Given the description of an element on the screen output the (x, y) to click on. 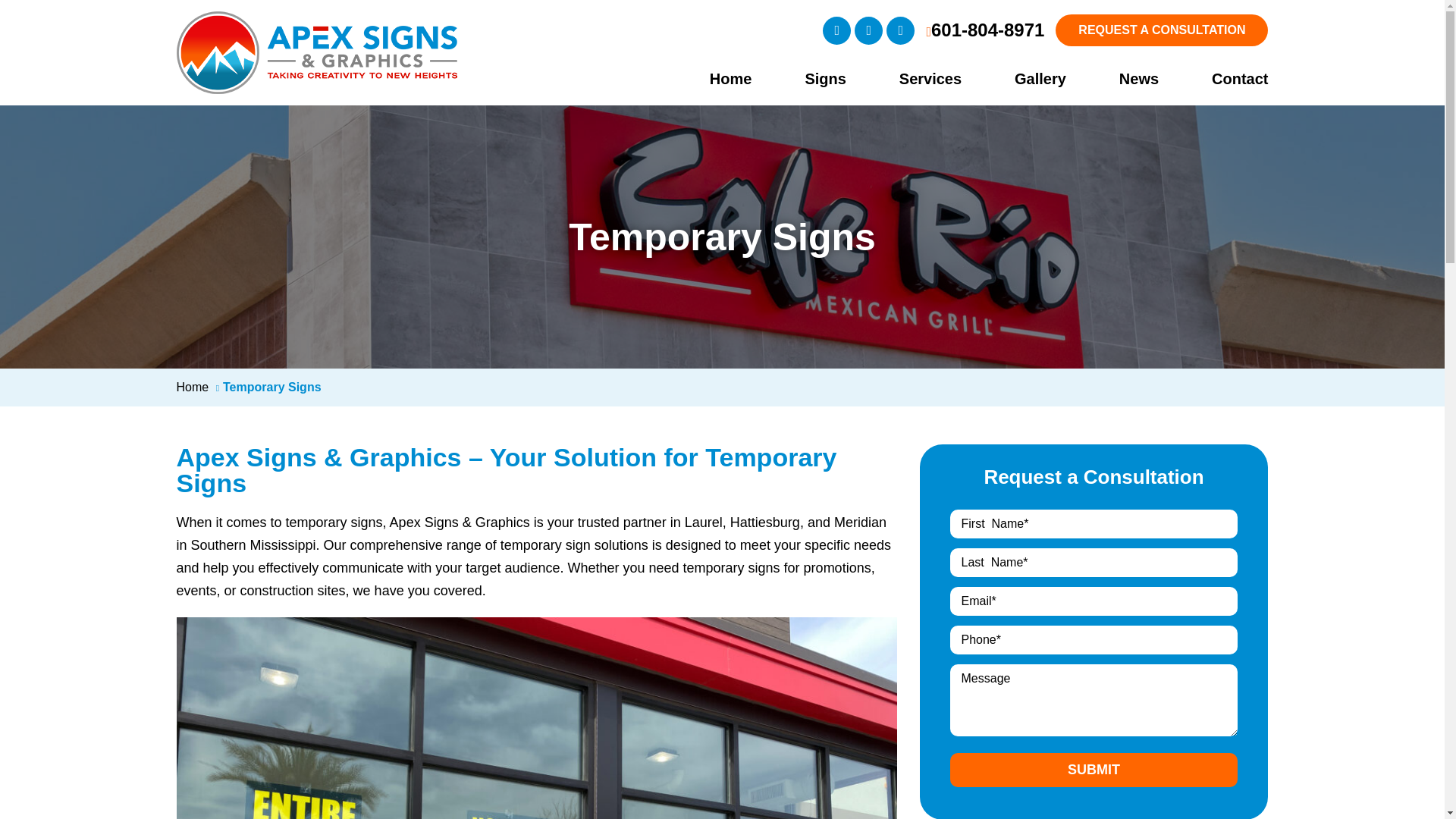
Signs (800, 78)
APEX Signs (316, 22)
REQUEST A CONSULTATION (1161, 29)
Submit (1093, 769)
601-804-8971 (984, 30)
Home (706, 78)
